Given the description of an element on the screen output the (x, y) to click on. 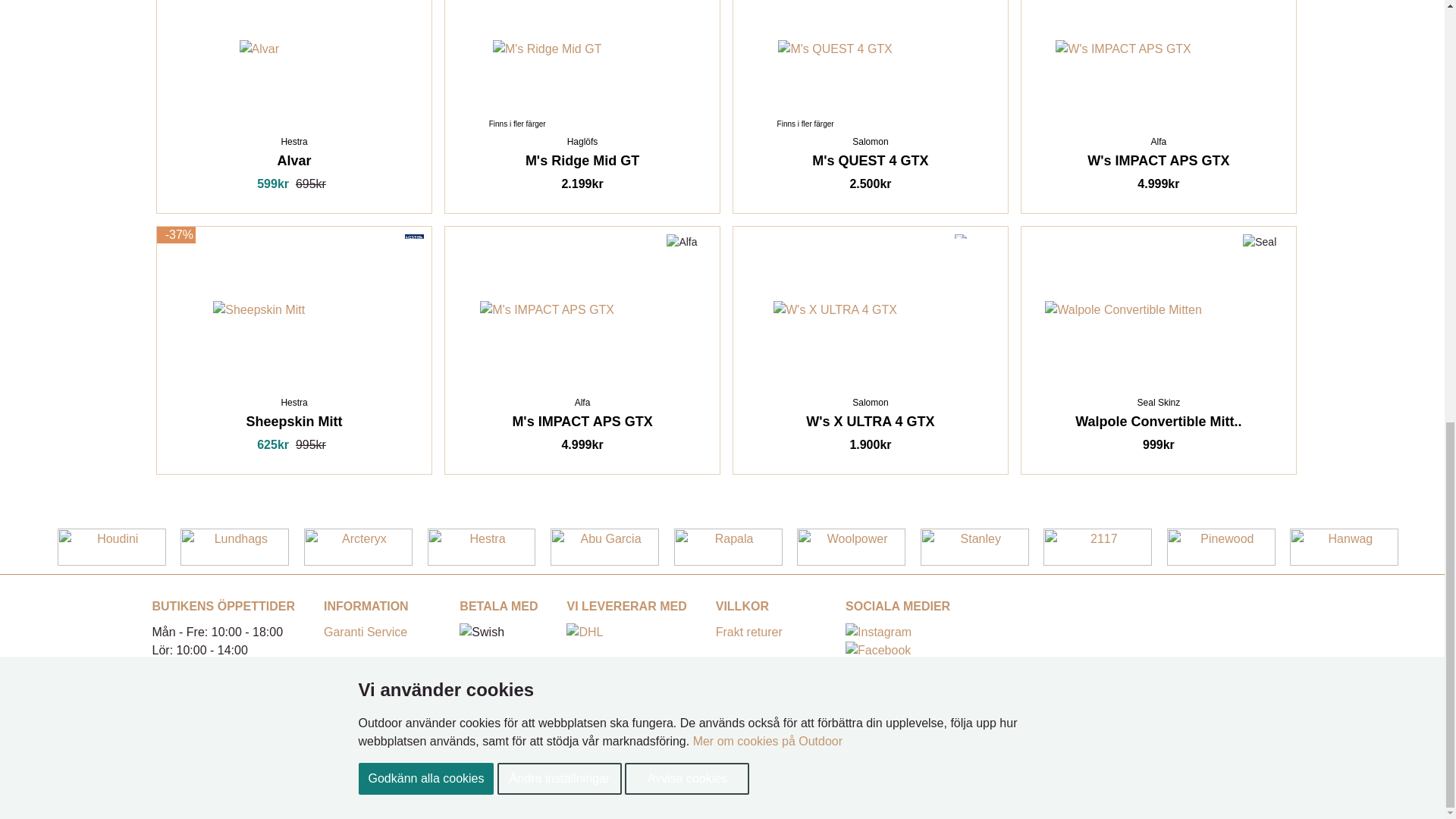
Walpole Convertible Mitten (1123, 310)
M's QUEST 4 GTX (834, 49)
Alvar (259, 49)
W's X ULTRA 4 GTX (834, 310)
M's Ridge Mid GT (547, 49)
M's IMPACT APS GTX (547, 310)
Arcteryx (358, 546)
W's IMPACT APS GTX (1123, 49)
Houdini (111, 546)
Sheepskin Mitt (258, 310)
